Given the description of an element on the screen output the (x, y) to click on. 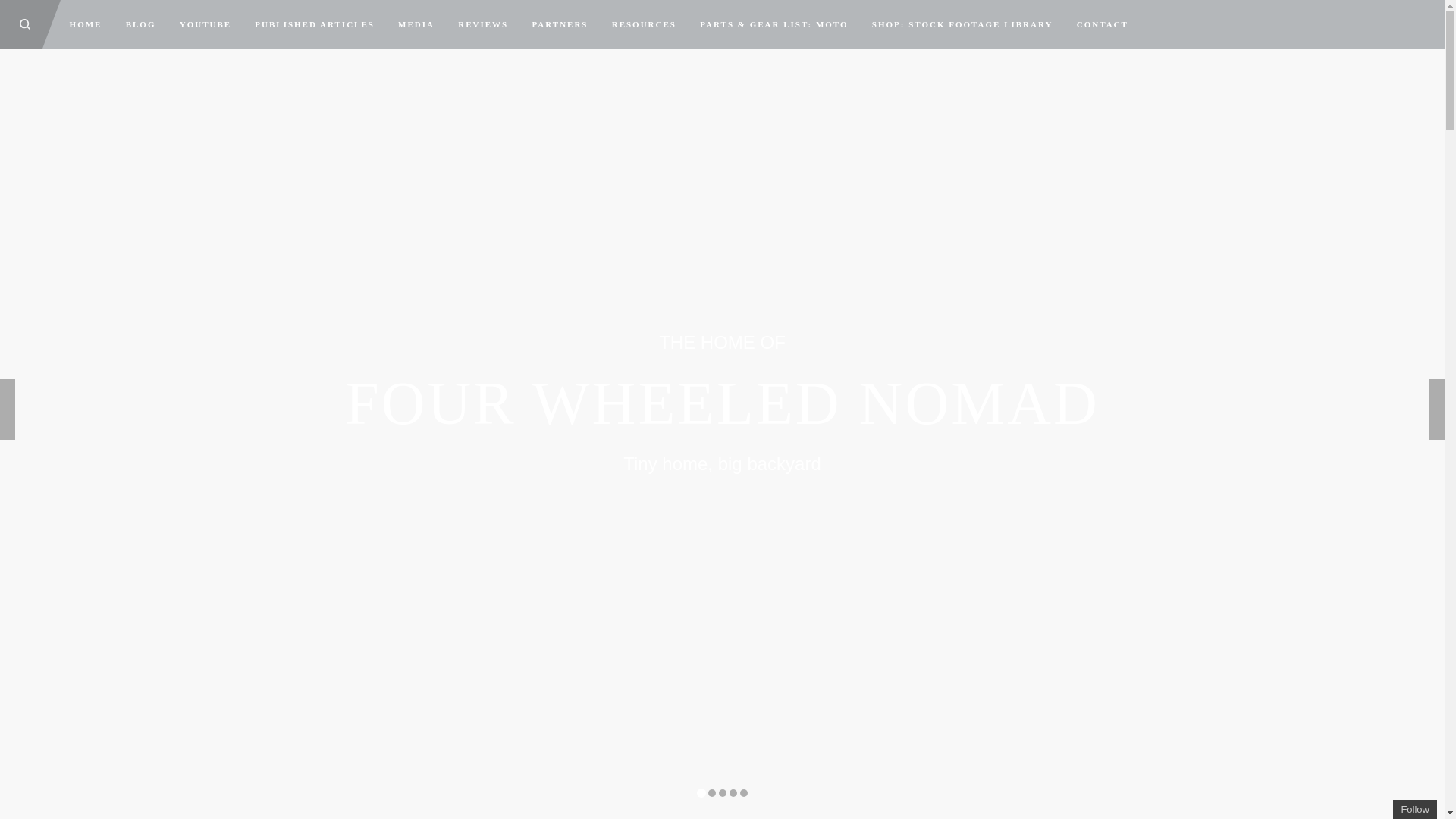
MEDIA (416, 24)
REVIEWS (482, 24)
BLOG (140, 24)
Previous (7, 409)
PUBLISHED ARTICLES (315, 24)
HOME (85, 24)
YOUTUBE (205, 24)
Search the site... (24, 24)
